Given the description of an element on the screen output the (x, y) to click on. 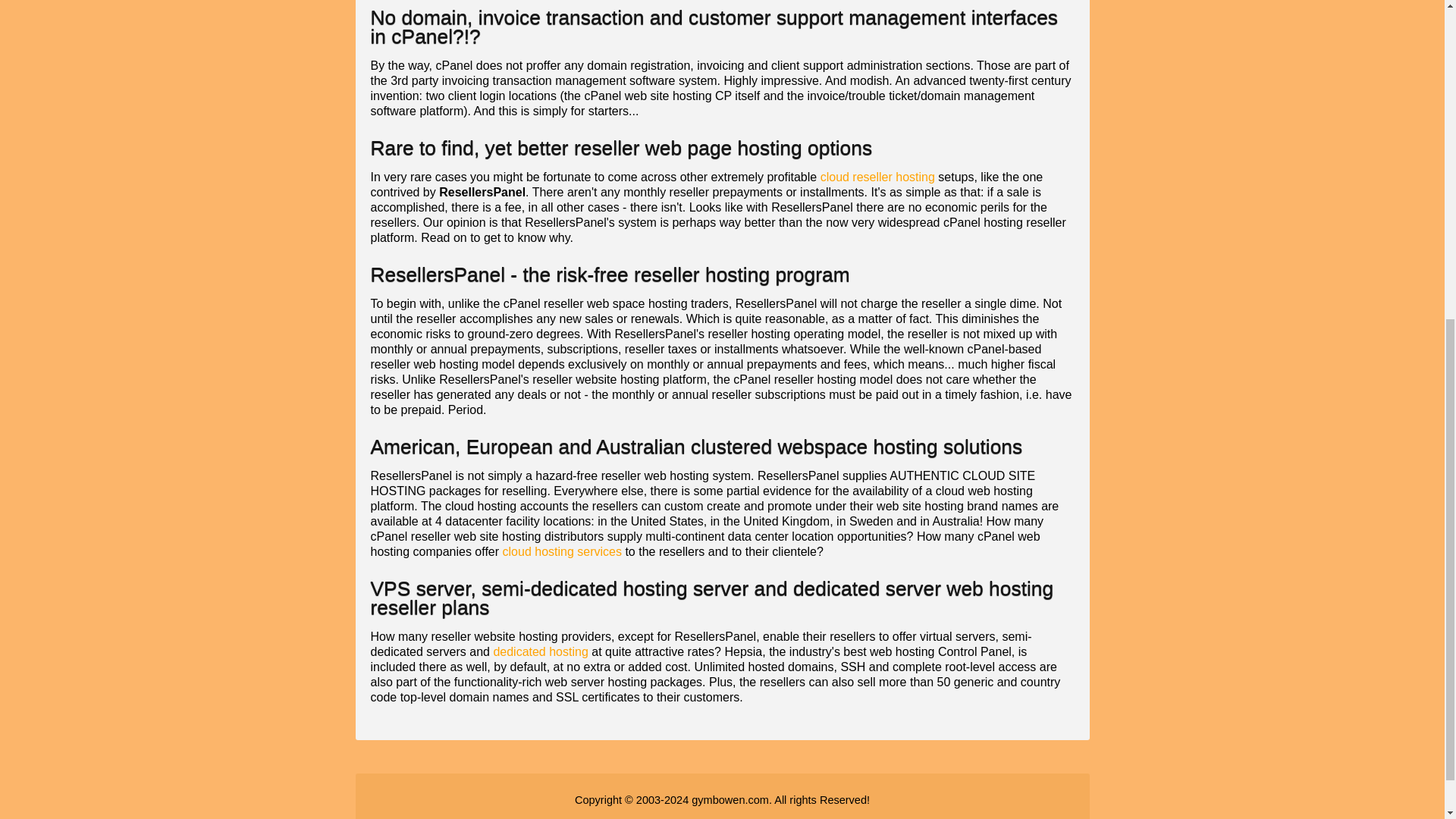
gymbowen.com (729, 799)
cloud hosting services (561, 551)
cloud reseller hosting (877, 176)
dedicated hosting (540, 651)
